Given the description of an element on the screen output the (x, y) to click on. 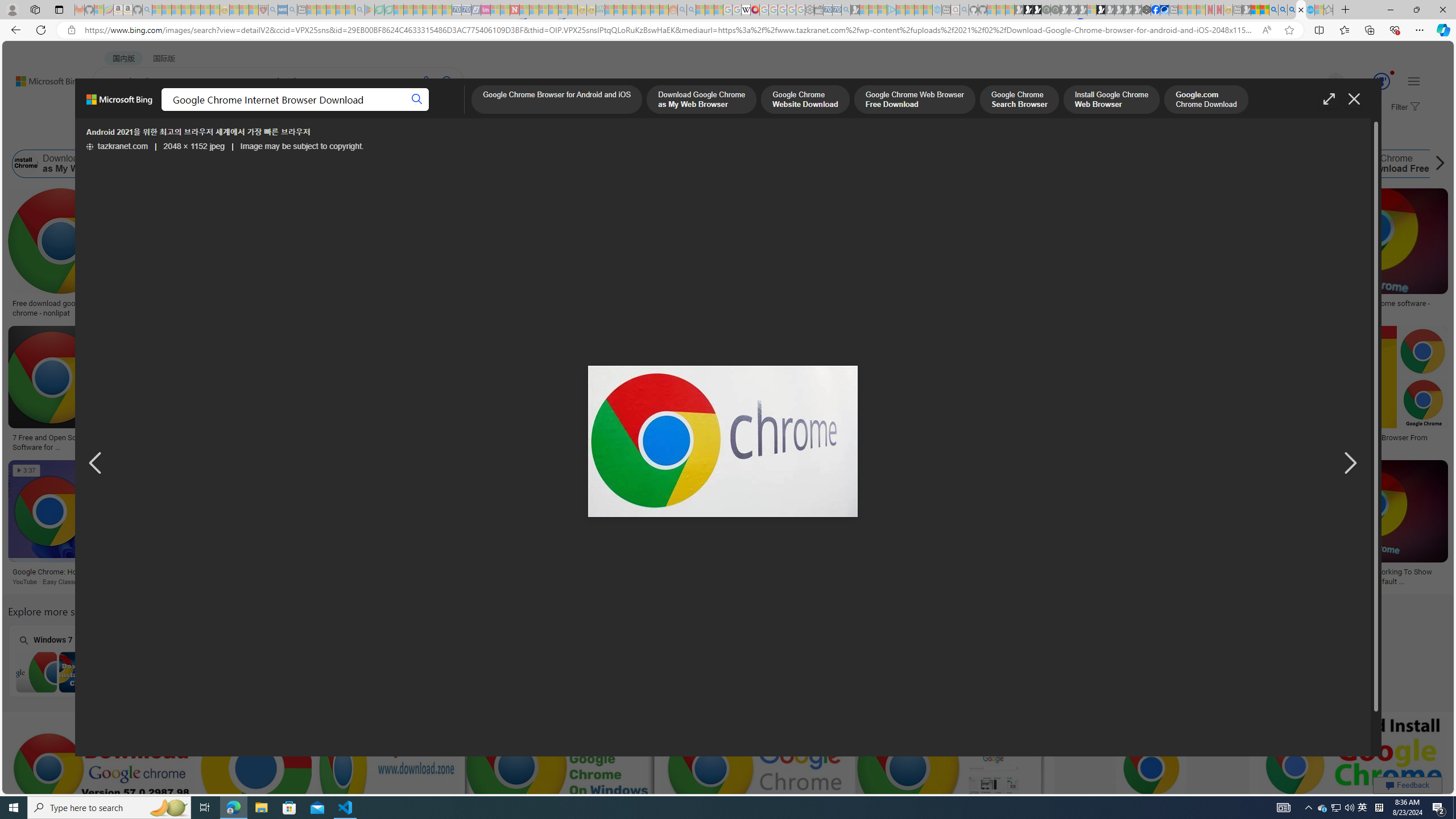
Google Chrome UK Download Free (1379, 163)
DICT (407, 111)
ACADEMIC (360, 111)
Google Chrome Download The Fast Secure Browser From Google (1340, 442)
MediaWiki (754, 9)
Free download google chrome - nonlipat (61, 307)
Free download google chrome - nonlipat (61, 307)
Google.com Chrome Download (781, 163)
Search button (417, 99)
Latest Google Chrome Free Download (911, 163)
